Given the description of an element on the screen output the (x, y) to click on. 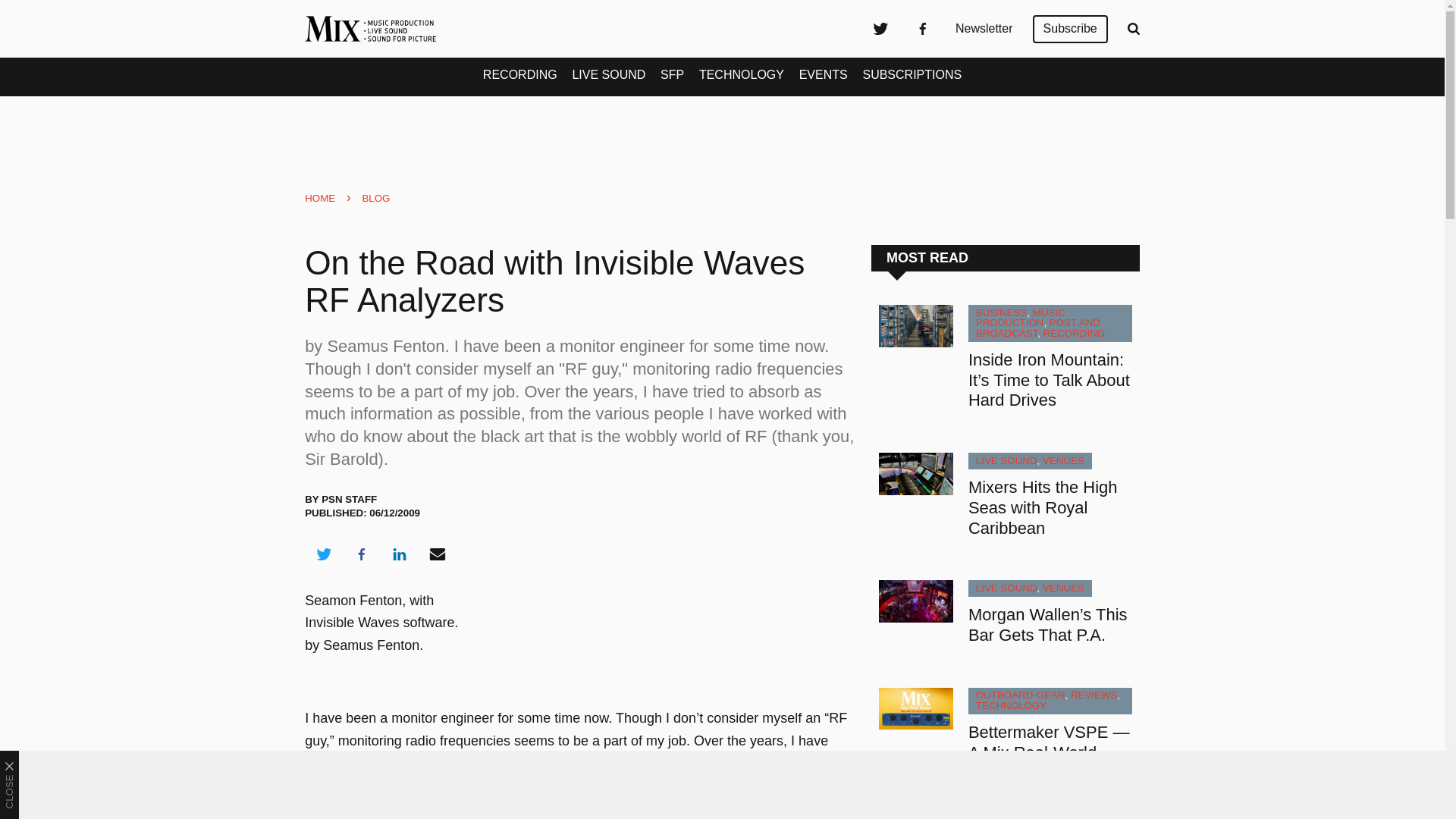
Share on Facebook (361, 554)
Share on LinkedIn (399, 554)
Share on Twitter (323, 554)
Share via Email (438, 554)
